Given the description of an element on the screen output the (x, y) to click on. 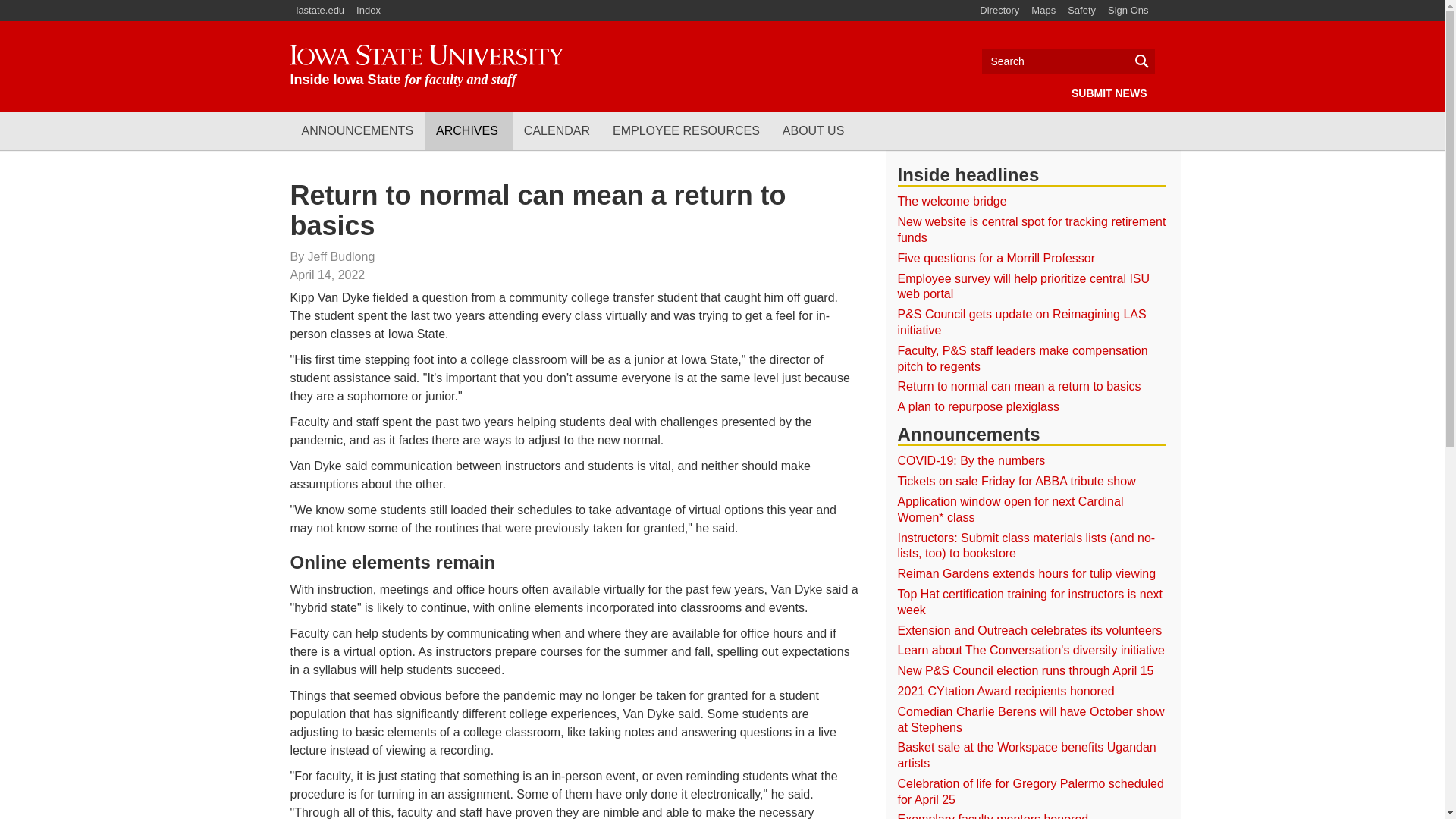
Sign Ons (1128, 10)
Search (1067, 61)
Directory (999, 10)
SUBMIT NEWS (1109, 93)
ARCHIVES (468, 130)
Home (425, 66)
Index (370, 10)
Safety (1081, 10)
ANNOUNCEMENTS (357, 130)
